Given the description of an element on the screen output the (x, y) to click on. 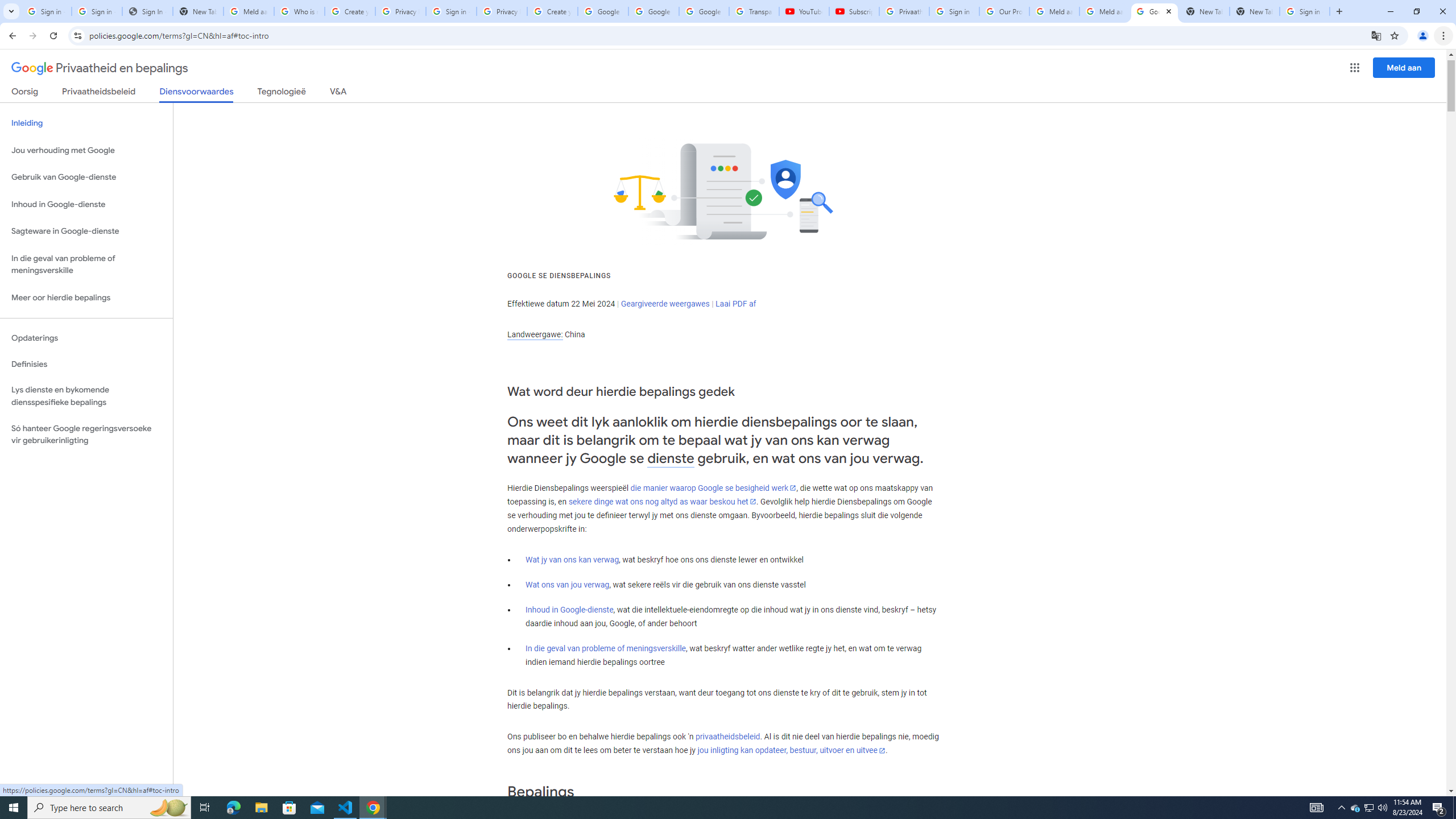
Meld aan (1404, 67)
dienste (670, 458)
Sign in - Google Accounts (954, 11)
Subscriptions - YouTube (853, 11)
Inleiding (86, 122)
Oorsig (25, 93)
Landweergawe: (534, 334)
